Given the description of an element on the screen output the (x, y) to click on. 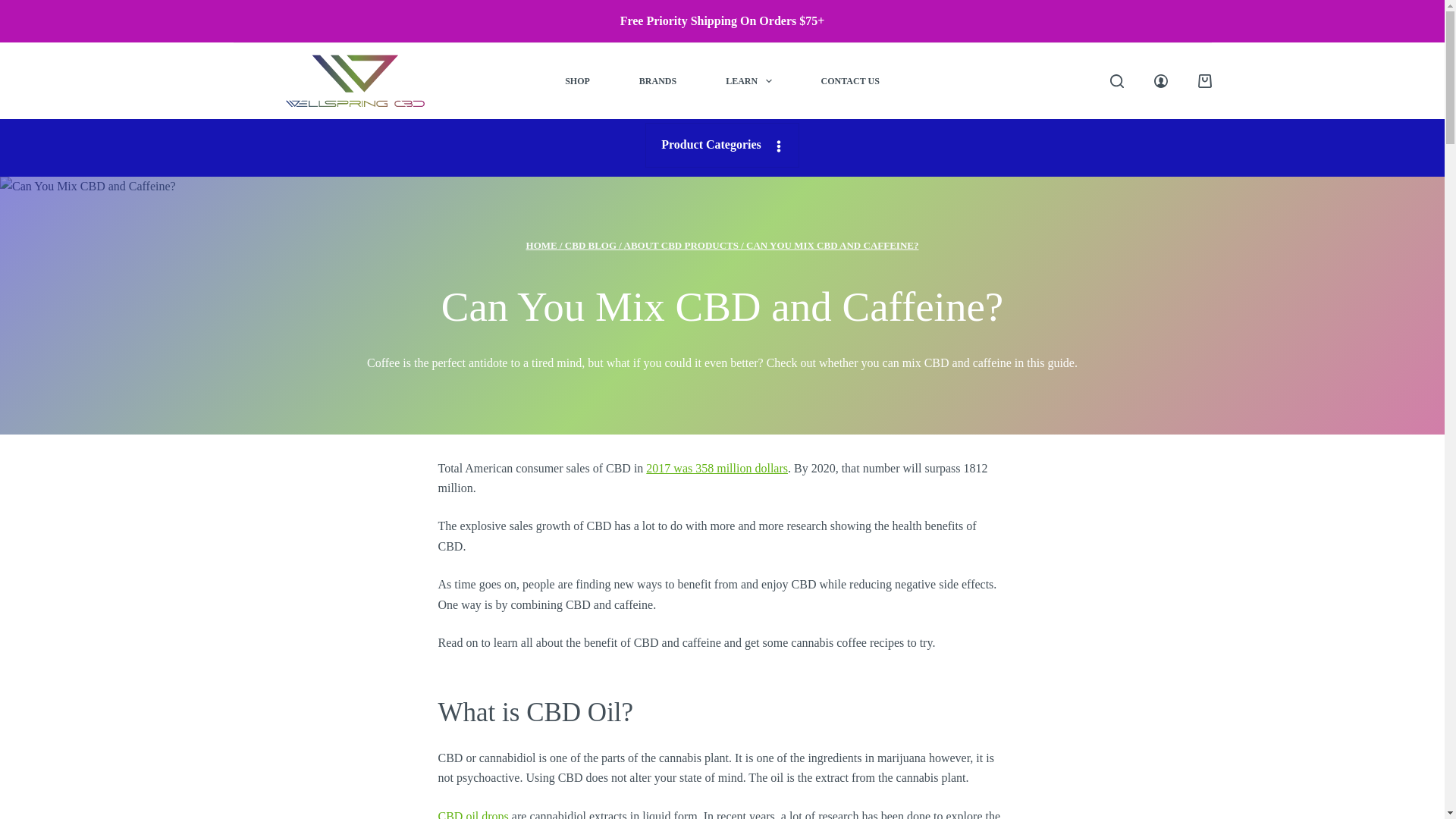
Shopping cart (1204, 80)
Shop CBD By Brand Name (657, 81)
CONTACT US (850, 81)
BRANDS (657, 81)
LEARN (748, 81)
Shop All Hemp Products (577, 81)
Learn About Us, Our Products, and More (748, 81)
Can You Mix CBD and Caffeine? (721, 307)
SHOP (577, 81)
Skip to content (15, 7)
